Given the description of an element on the screen output the (x, y) to click on. 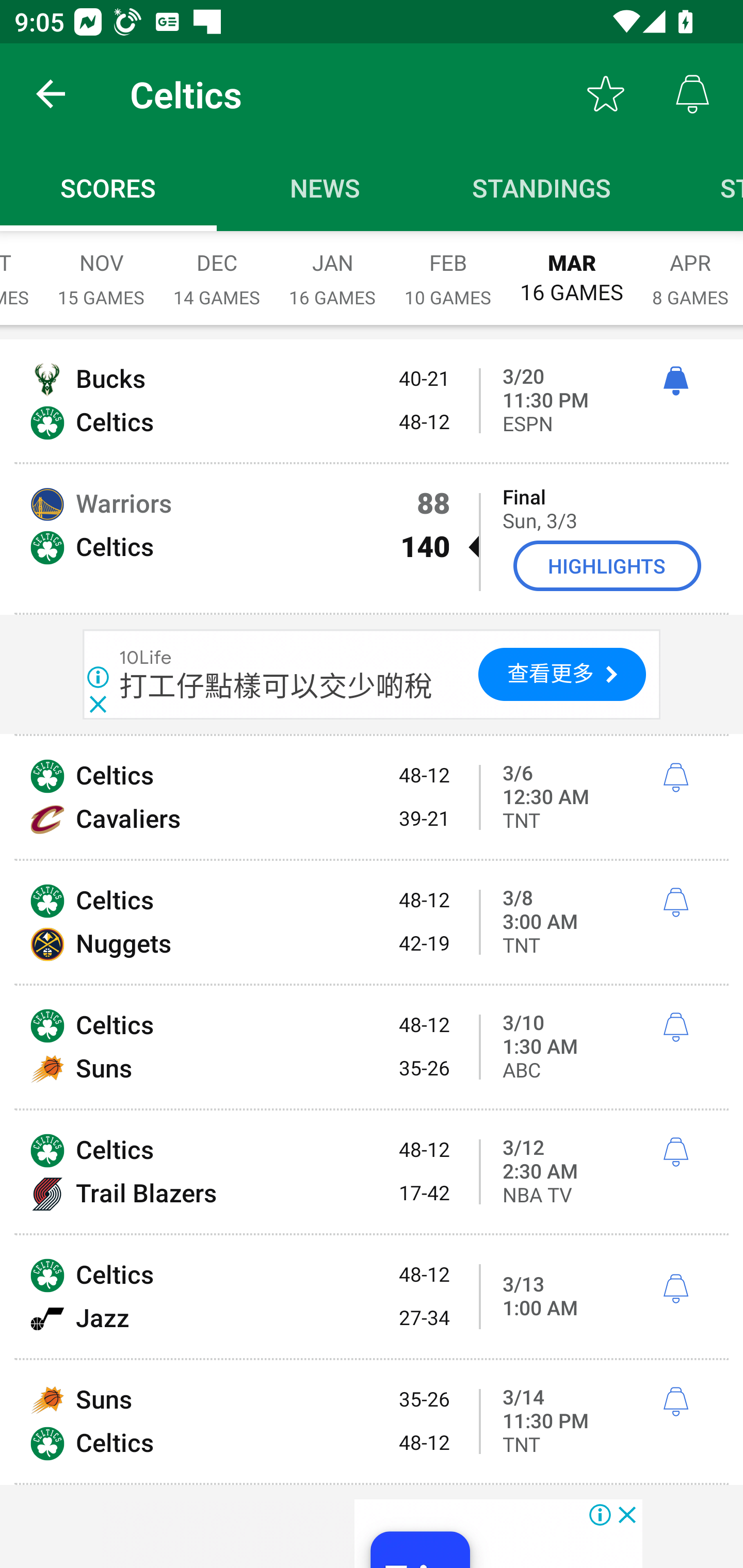
back.button (50, 93)
Favorite toggle (605, 93)
Alerts (692, 93)
News NEWS (324, 187)
Standings STANDINGS (541, 187)
NOV 15 GAMES (101, 268)
DEC 14 GAMES (216, 268)
JAN 16 GAMES (332, 268)
FEB 10 GAMES (447, 268)
MAR 16 GAMES (571, 267)
APR 8 GAMES (690, 268)
Bucks 40-21 Celtics 48-12 3/20 11:30 PM ì ESPN (371, 400)
ì (675, 381)
HIGHLIGHTS (607, 565)
10Life (145, 657)
查看更多 (561, 673)
打工仔點樣可以交少啲稅 (276, 685)
Celtics 48-12 Cavaliers 39-21 3/6 12:30 AM í TNT (371, 797)
í (675, 778)
Celtics 48-12 Nuggets 42-19 3/8 3:00 AM í TNT (371, 921)
í (675, 901)
Celtics 48-12 Suns 35-26 3/10 1:30 AM í ABC (371, 1047)
í (675, 1027)
í (675, 1152)
Celtics 48-12 Jazz 27-34 3/13 1:00 AM í (371, 1296)
í (675, 1289)
Suns 35-26 Celtics 48-12 3/14 11:30 PM í TNT (371, 1421)
í (675, 1402)
